Given the description of an element on the screen output the (x, y) to click on. 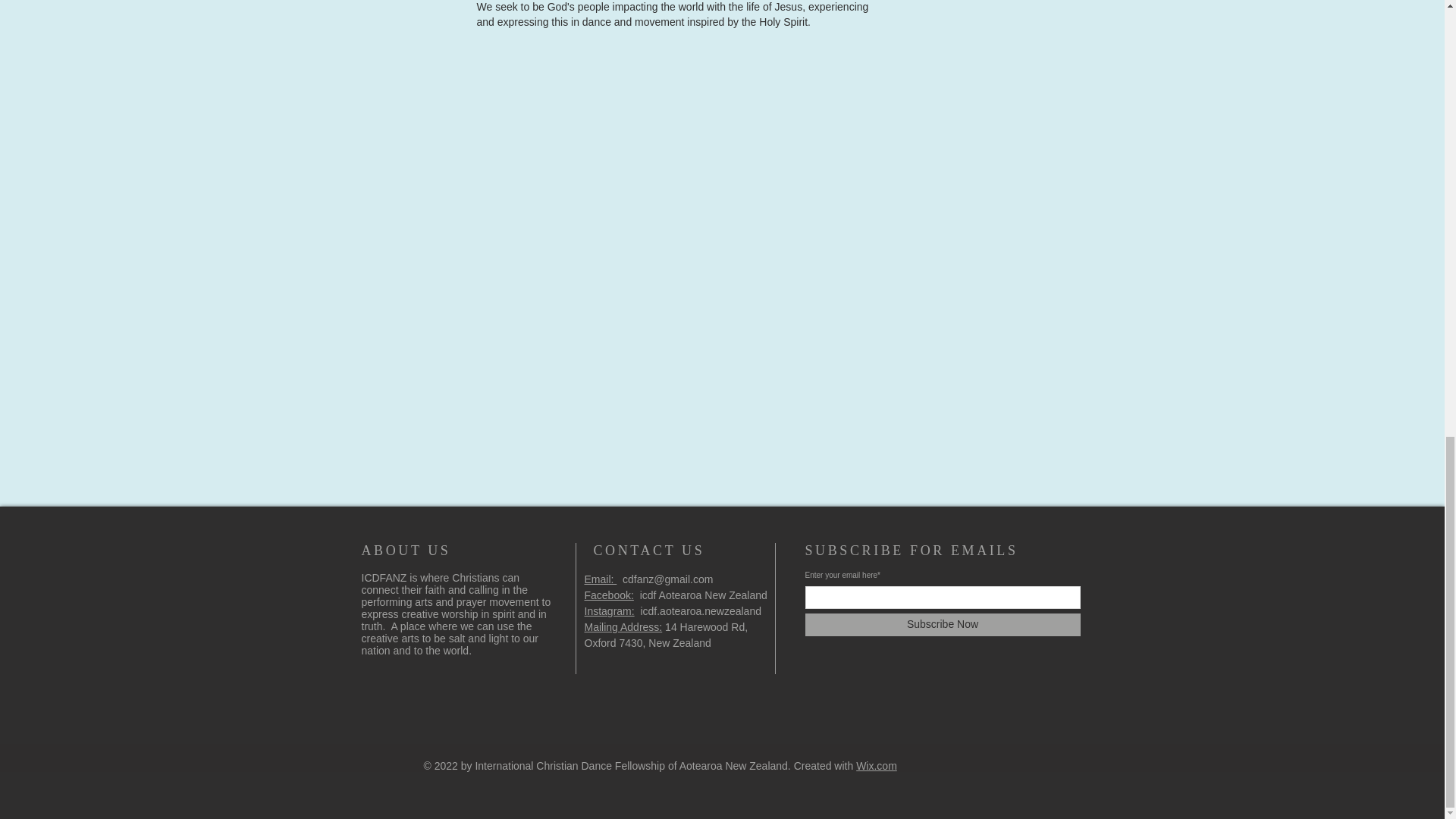
Wix.com (876, 766)
Subscribe Now (942, 624)
